Given the description of an element on the screen output the (x, y) to click on. 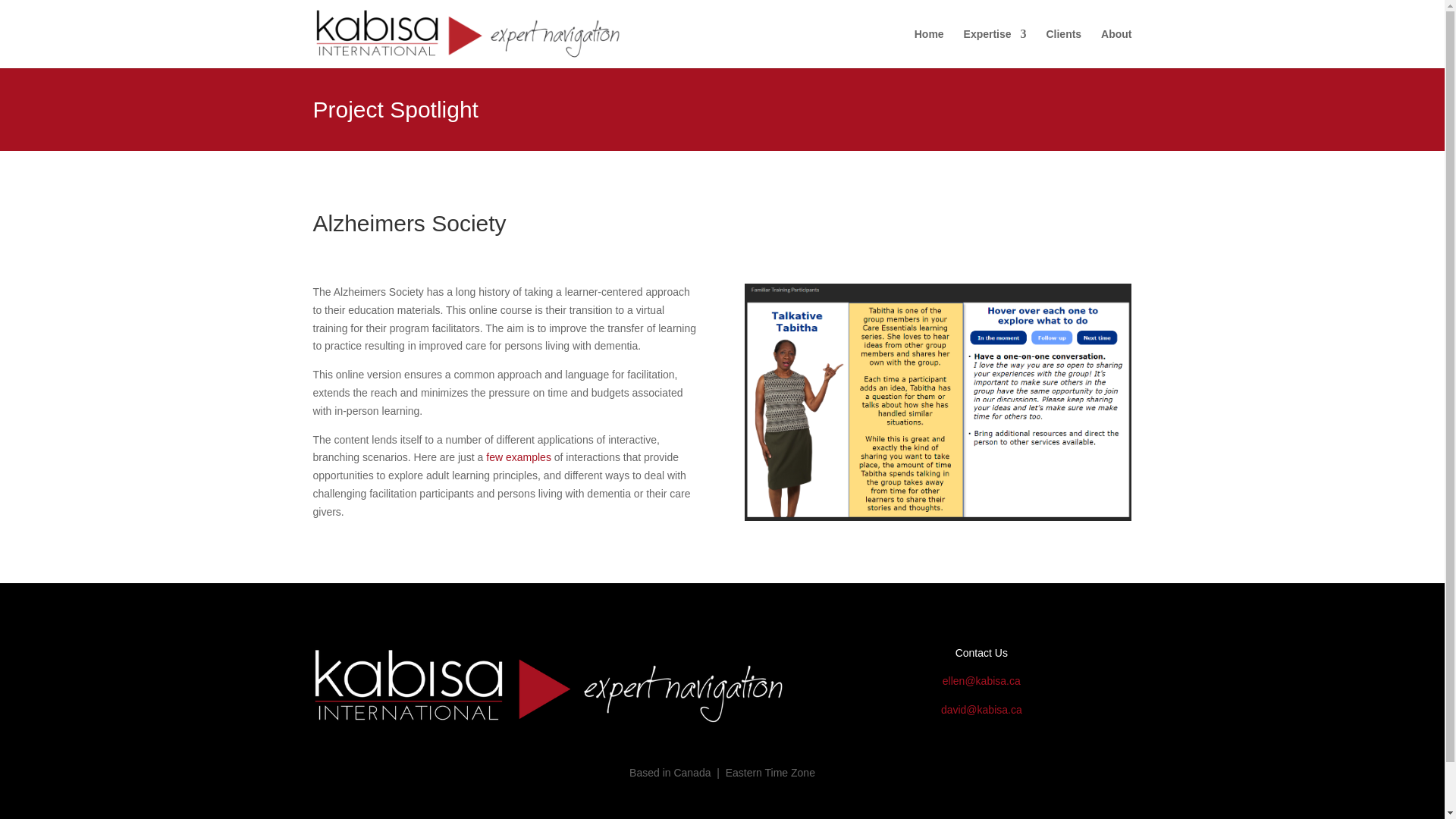
Clients (1063, 47)
Screenshot 2023-06-05 140449 (937, 401)
few examples (518, 457)
Expertise (994, 47)
logo reversed (549, 686)
